Given the description of an element on the screen output the (x, y) to click on. 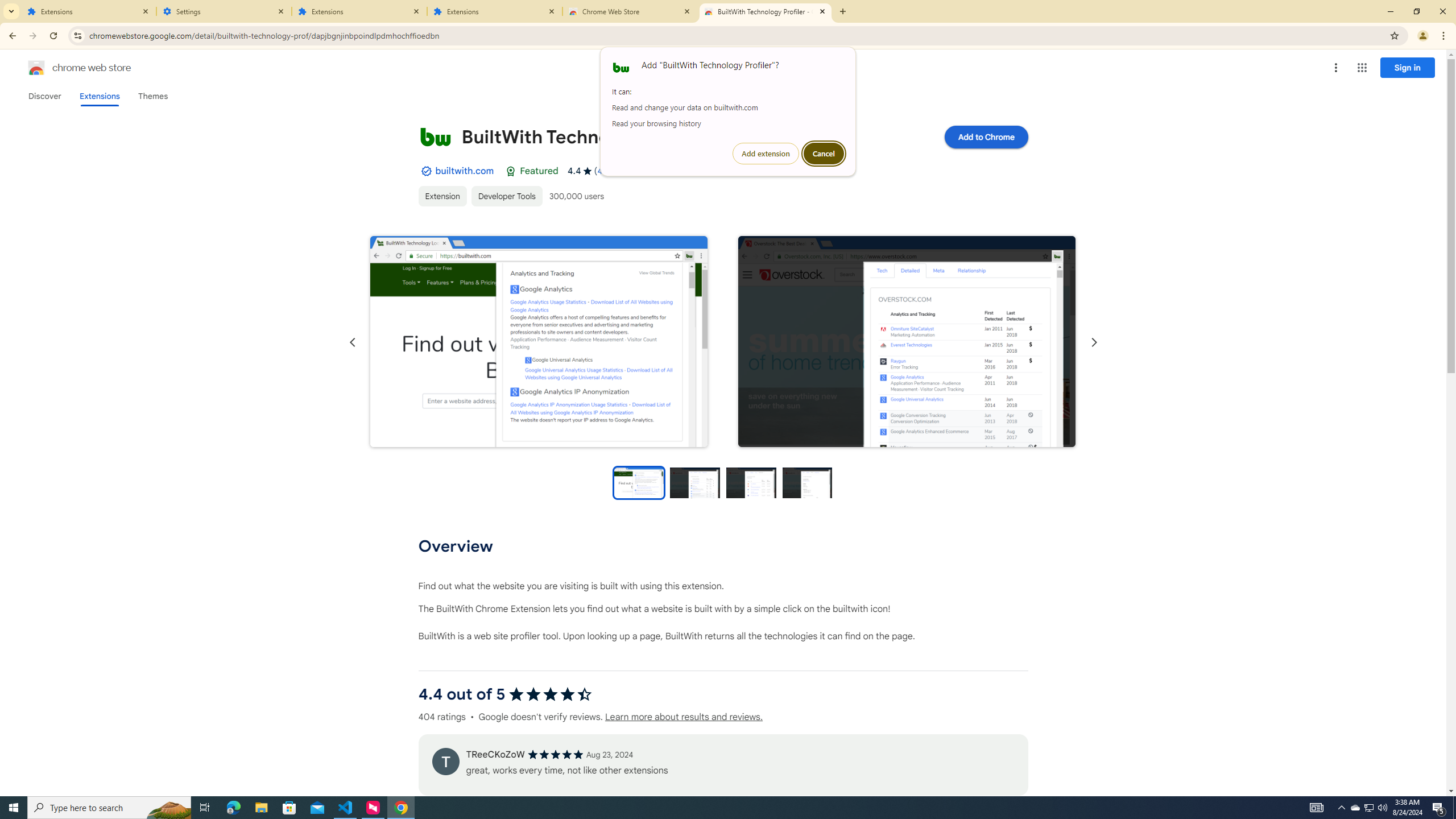
5 out of 5 stars (555, 753)
Extensions (494, 11)
Settings (224, 11)
4.4 out of 5 stars (549, 693)
BuiltWith Technology Profiler - Chrome Web Store (765, 11)
Item media 1 screenshot (538, 342)
Type here to search (108, 807)
Preview slide 4 (807, 482)
